Given the description of an element on the screen output the (x, y) to click on. 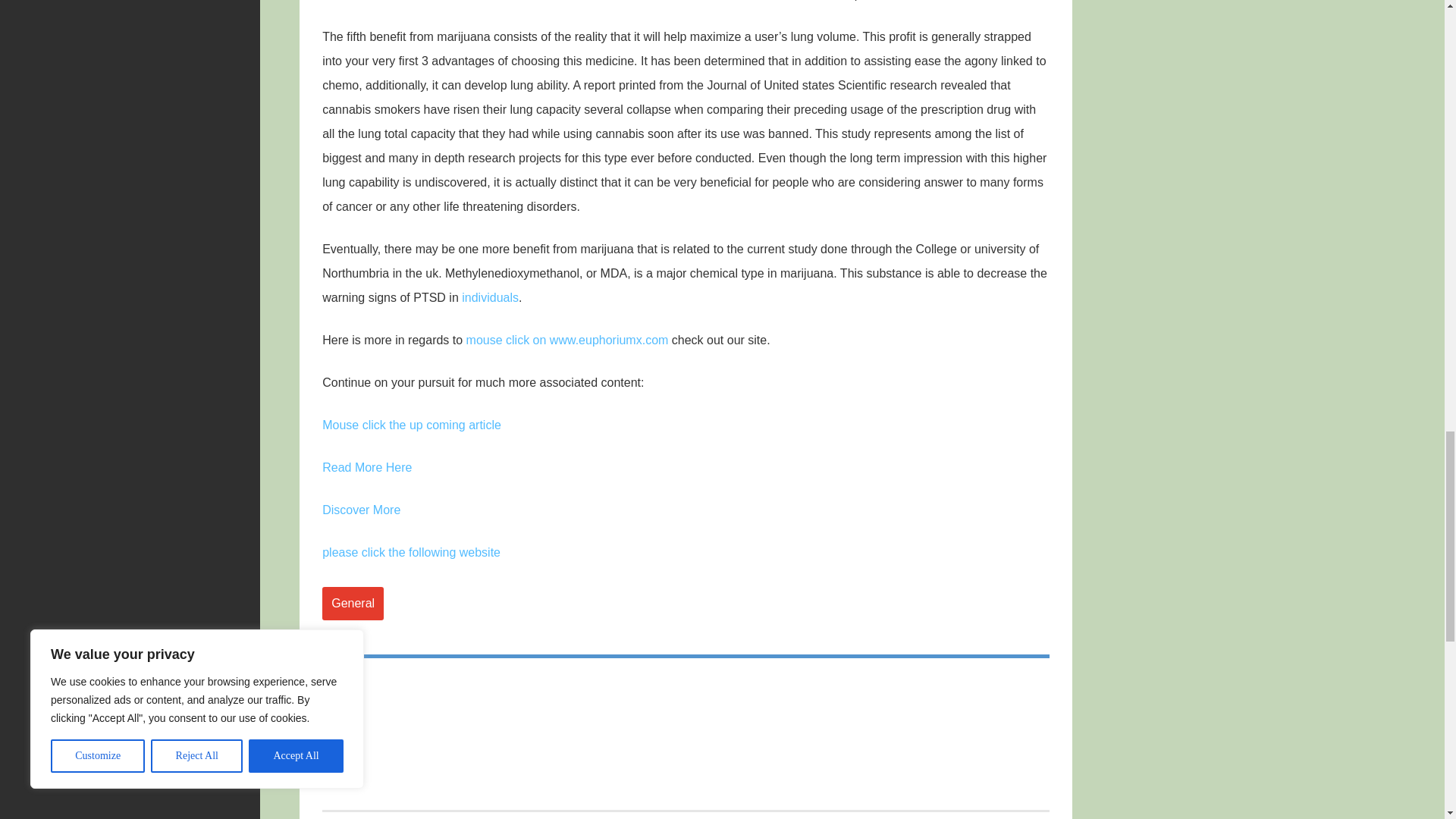
General (352, 603)
Read More Here (366, 467)
please click the following website (410, 552)
Mouse click the up coming article (410, 424)
Discover More (360, 509)
individuals (489, 297)
mouse click on www.euphoriumx.com (566, 339)
